Given the description of an element on the screen output the (x, y) to click on. 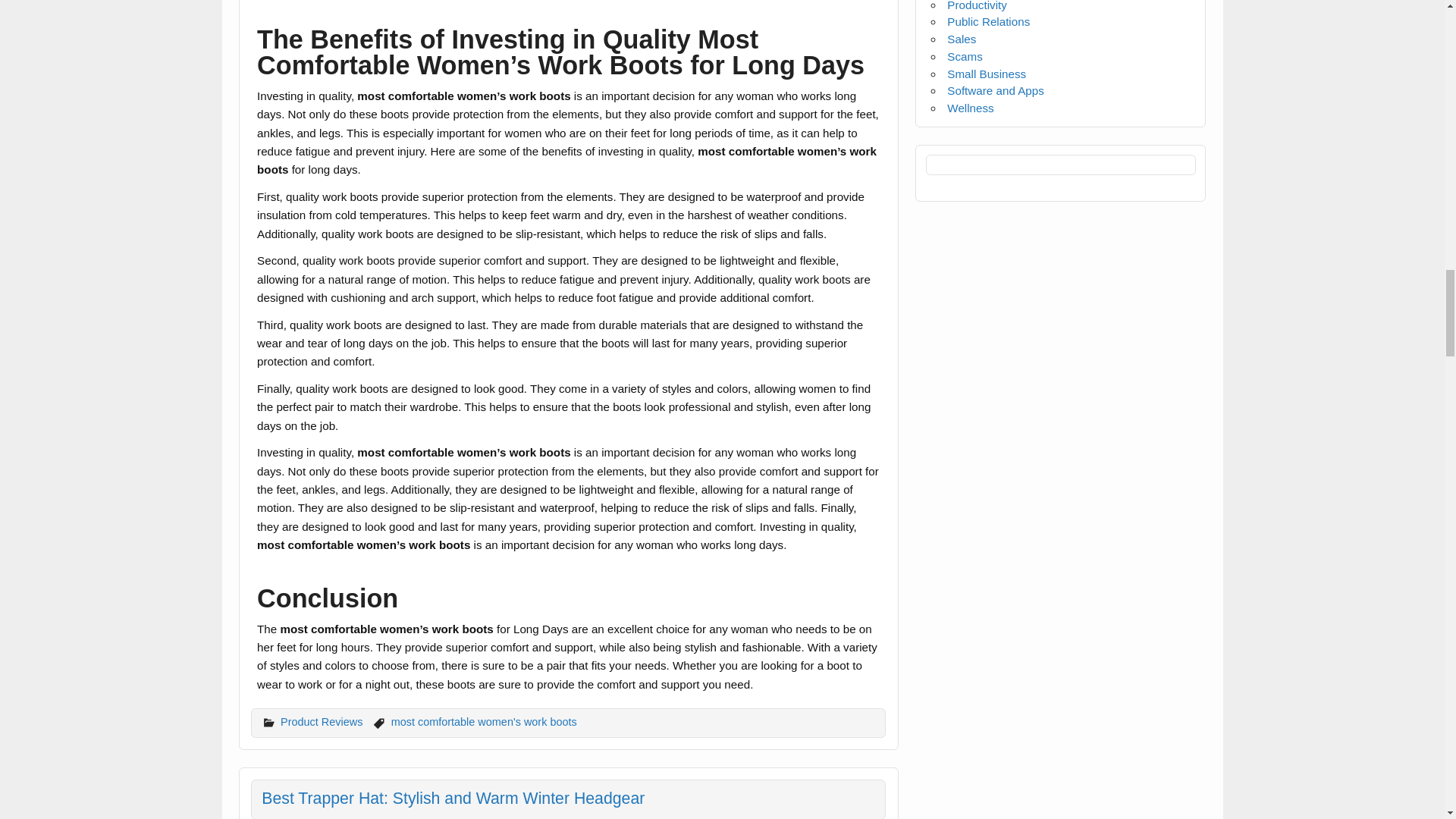
Product Reviews (321, 721)
most comfortable women's work boots (483, 721)
Best Trapper Hat: Stylish and Warm Winter Headgear (453, 798)
